Given the description of an element on the screen output the (x, y) to click on. 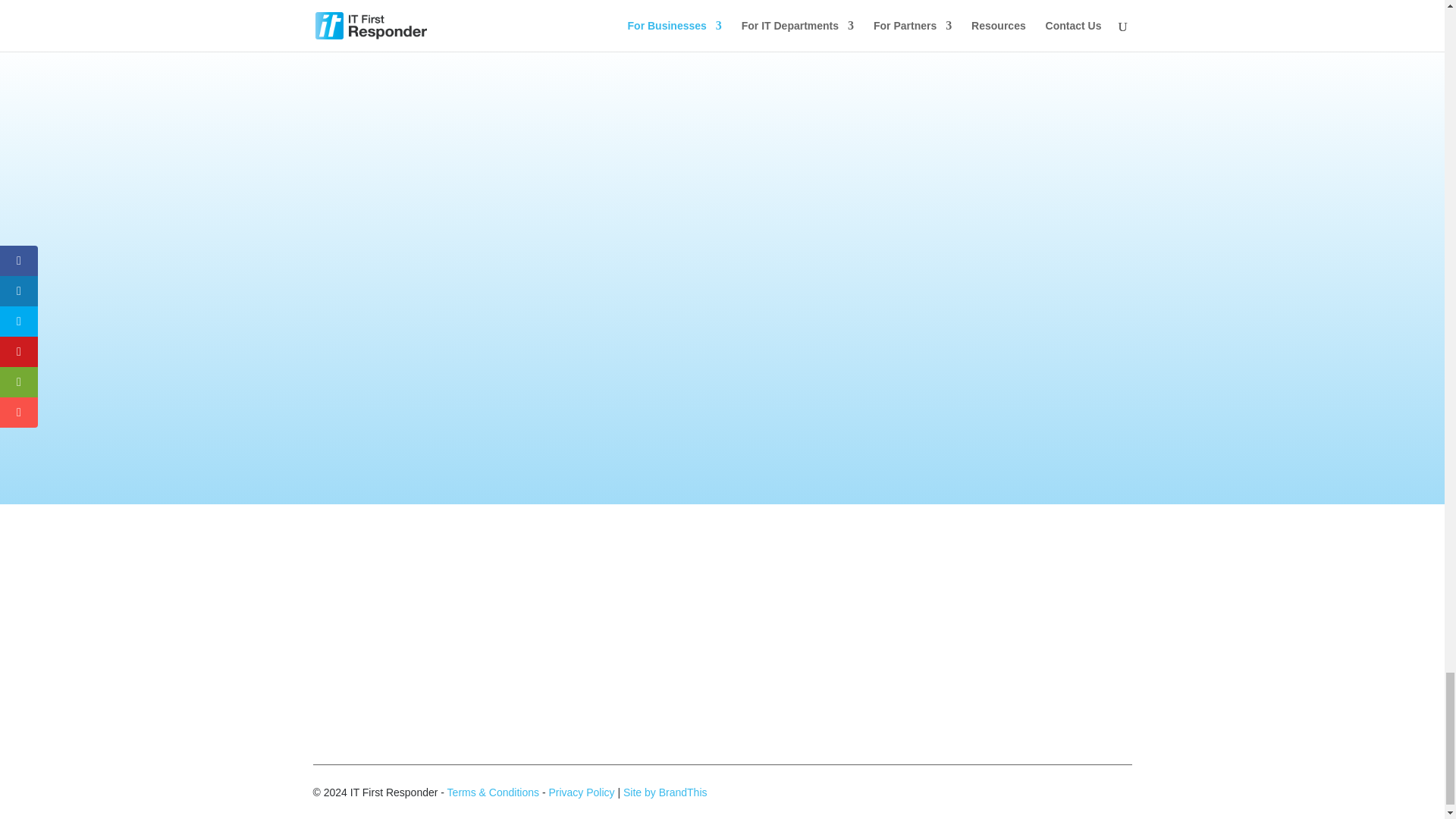
Privacy Policy (581, 792)
Site by BrandThis (665, 792)
